Given the description of an element on the screen output the (x, y) to click on. 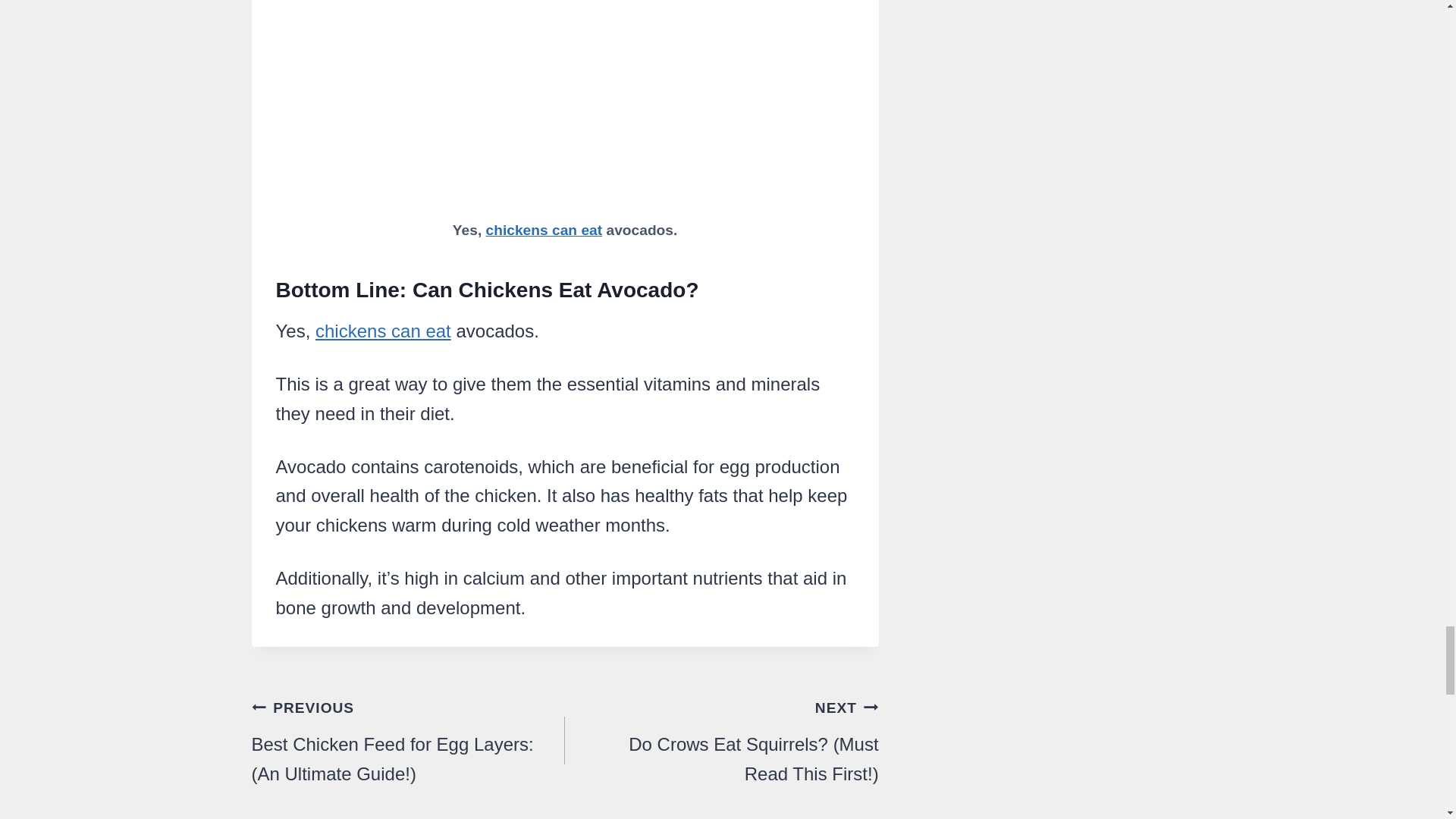
Can Chickens Eat Avocados: The Answer Is Maybe (565, 105)
chickens can eat (383, 331)
chickens can eat (544, 229)
